Given the description of an element on the screen output the (x, y) to click on. 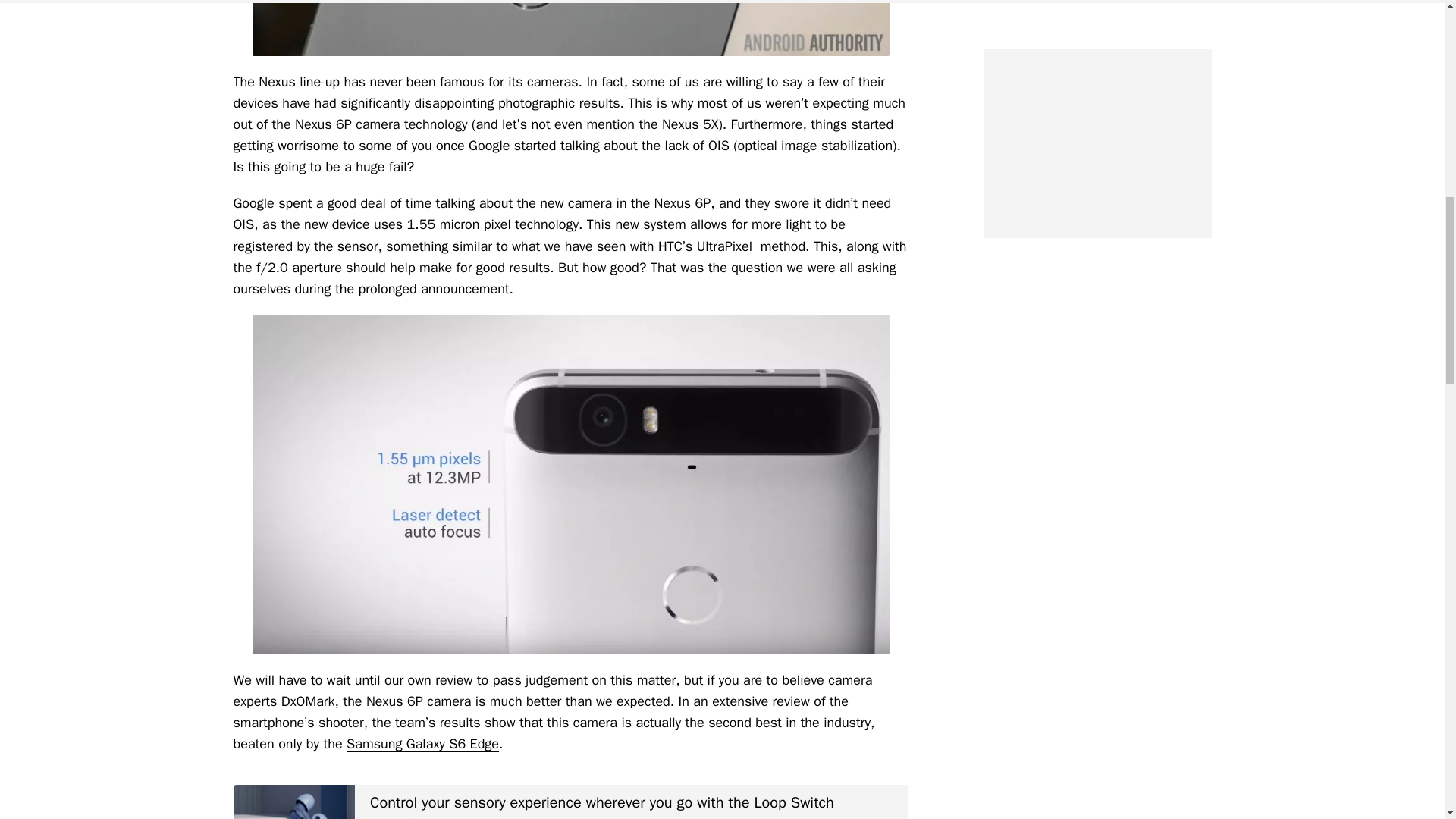
Samsung Galaxy S6 Edge (422, 743)
